Given the description of an element on the screen output the (x, y) to click on. 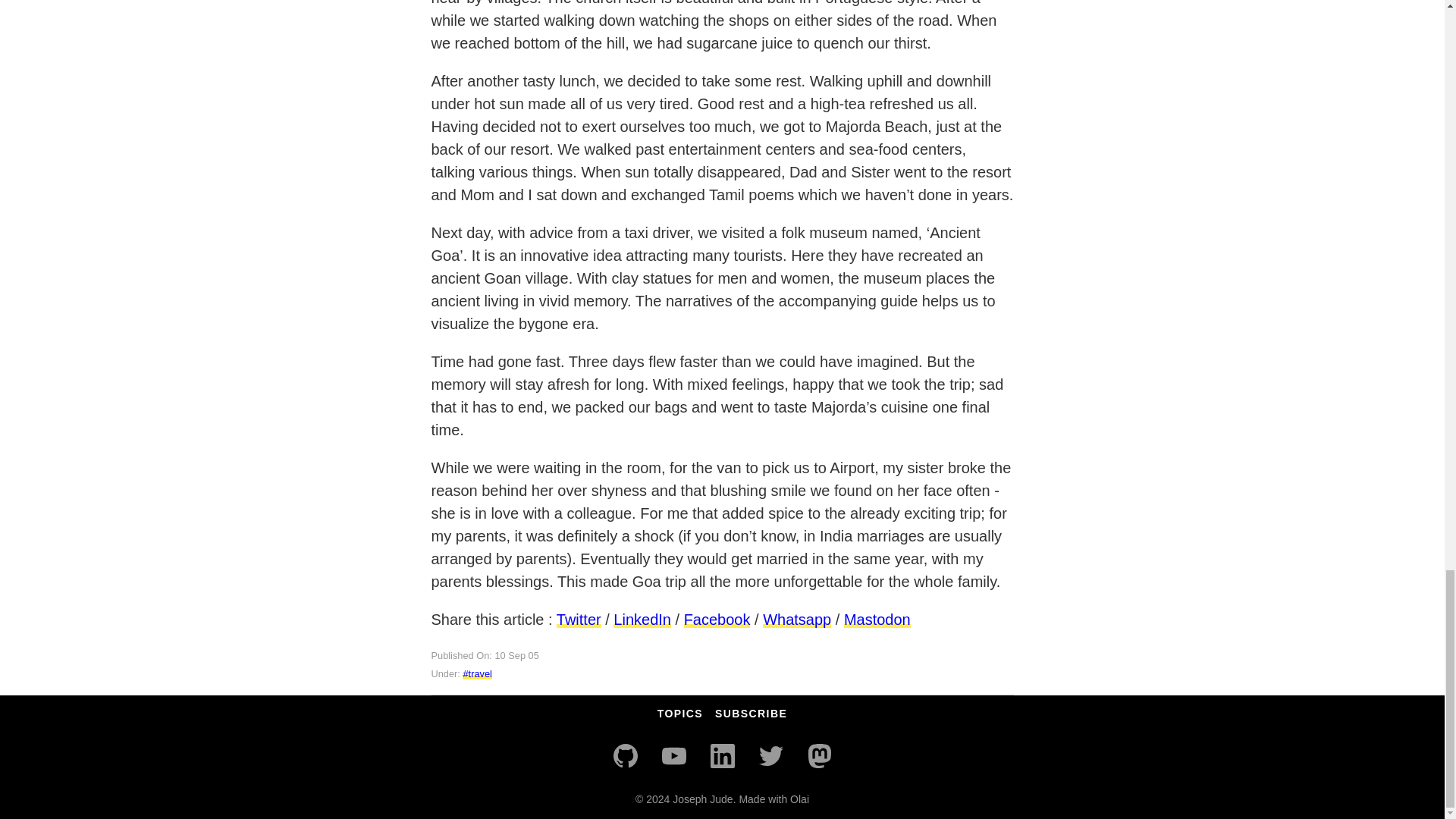
click to read all articles under travel (477, 673)
Whatsapp (796, 619)
GitHub (625, 755)
Subscribe (750, 713)
Twitter (578, 619)
Facebook (717, 619)
SUBSCRIBE (750, 713)
Mastodon (877, 619)
TOPICS (680, 713)
Twitter (770, 755)
youtube (673, 755)
Mastodon (818, 755)
Topics (680, 713)
LinkedIn (721, 755)
LinkedIn (641, 619)
